Given the description of an element on the screen output the (x, y) to click on. 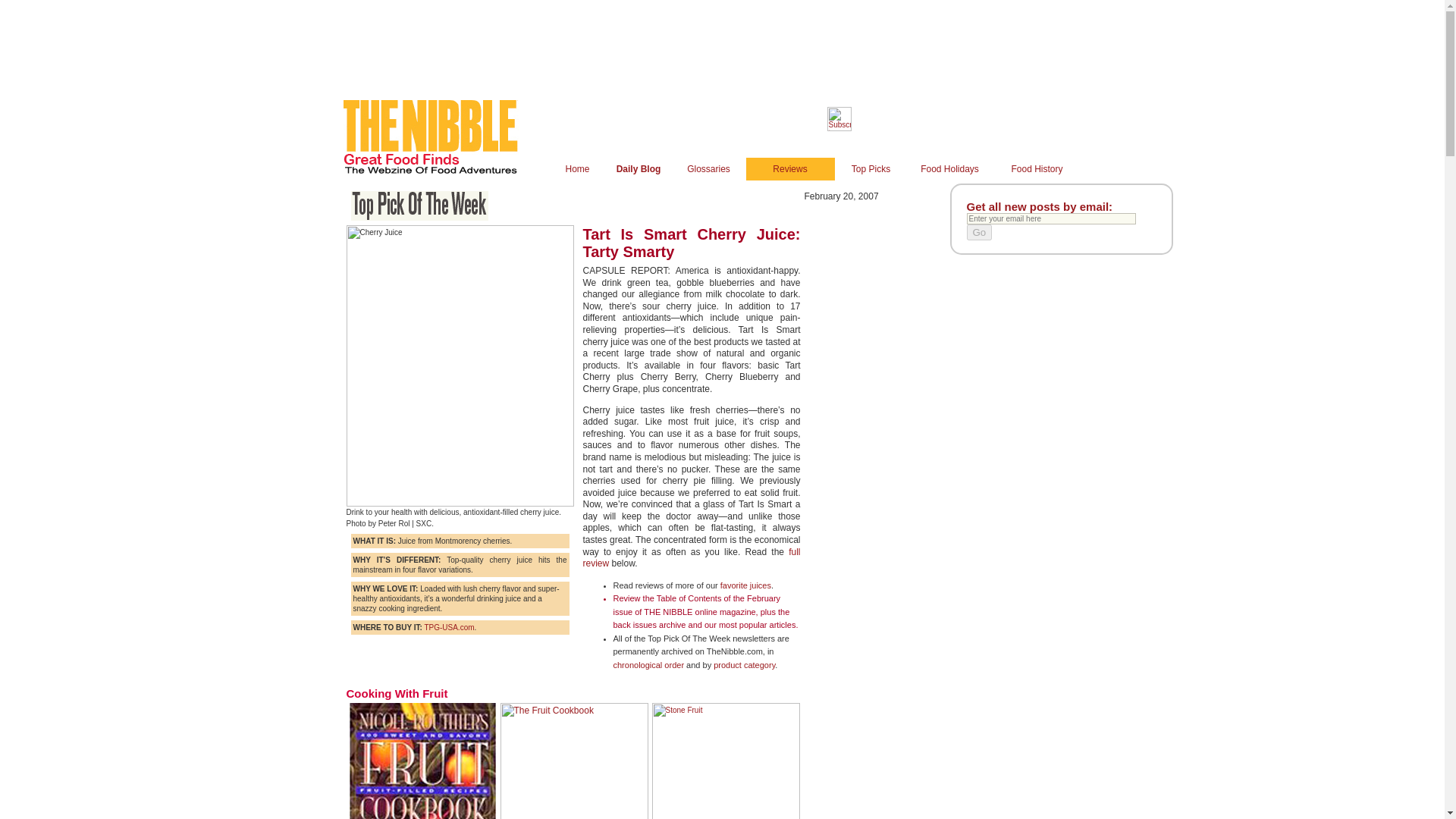
chronological order (648, 664)
product category (743, 664)
Daily Blog (638, 169)
full review (690, 558)
Go (978, 232)
Table of Contents (689, 597)
Top Picks (870, 169)
favorite juices (745, 584)
Food Holidays (949, 169)
TPG-USA.com (448, 627)
Food History (1036, 169)
Glossaries (708, 169)
Reviews (789, 169)
Home (576, 169)
Subscribe to our RSS Feed (838, 128)
